Given the description of an element on the screen output the (x, y) to click on. 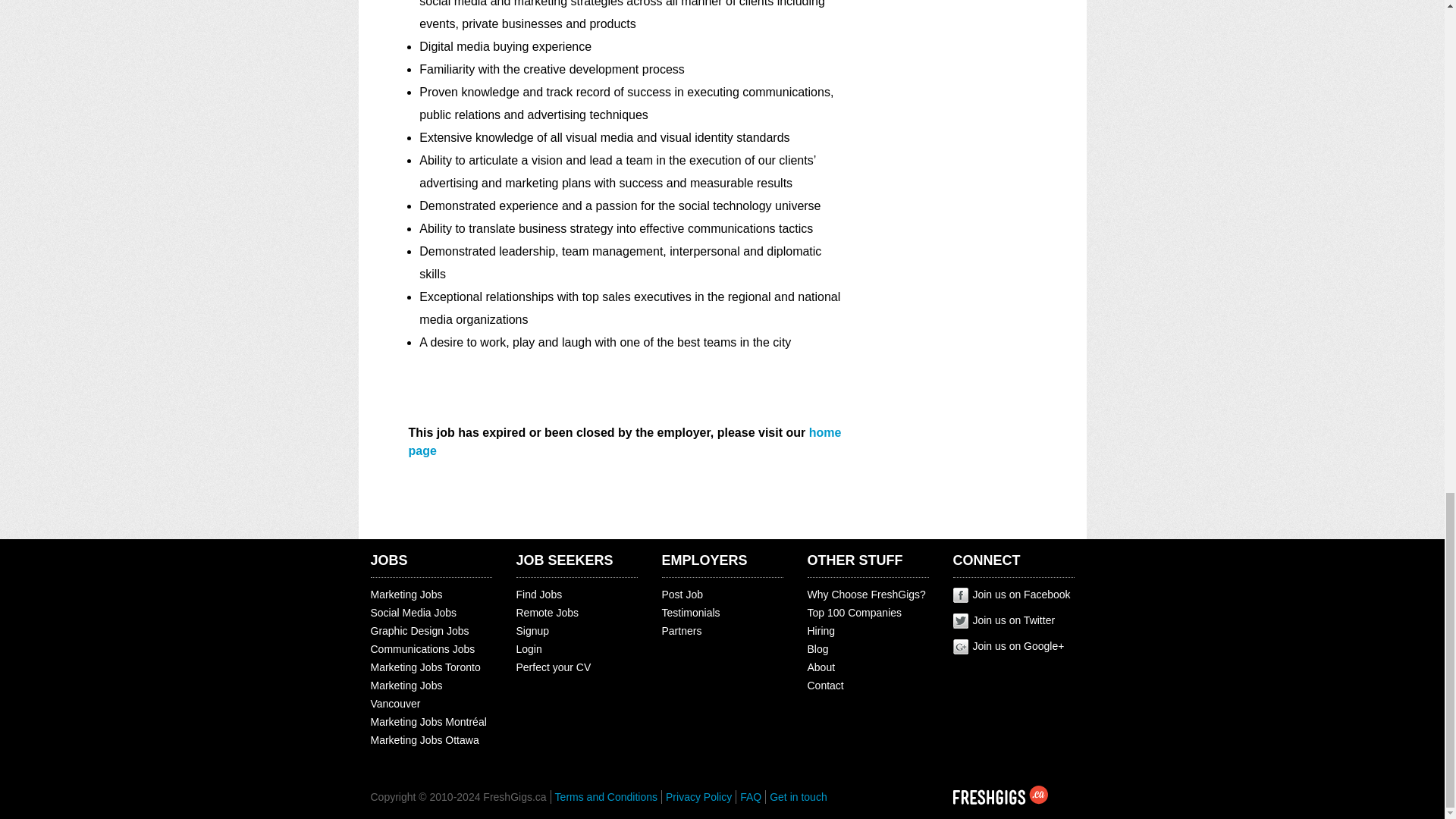
Post Job (681, 594)
Remote Jobs (546, 612)
Login (528, 648)
Marketing Jobs Toronto (424, 666)
home page (624, 441)
Marketing Jobs Ottawa (424, 739)
Testimonials (690, 612)
Marketing Jobs Vancouver (405, 694)
Marketing Jobs (405, 594)
Find Jobs (538, 594)
